Given the description of an element on the screen output the (x, y) to click on. 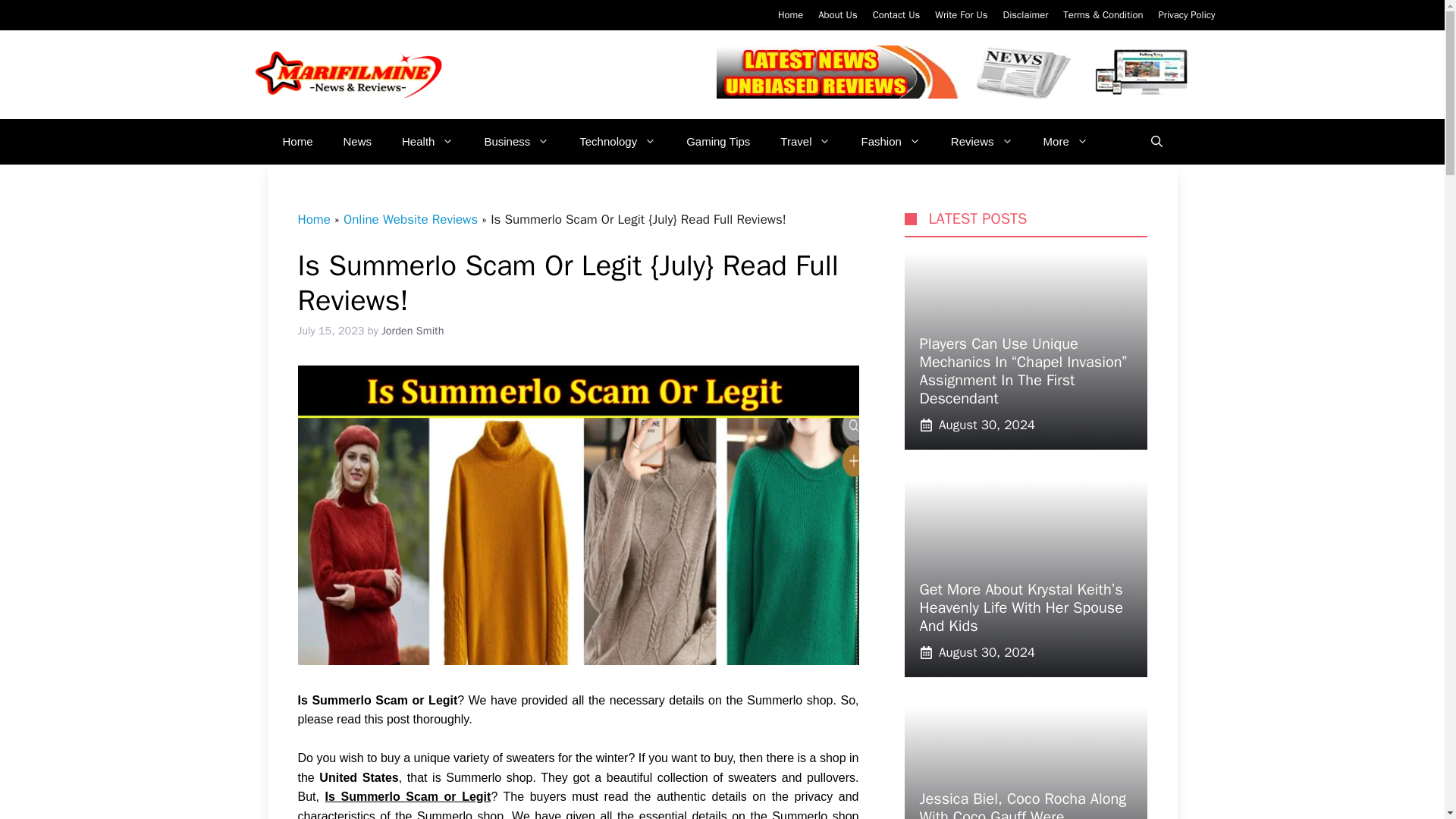
About Us (837, 14)
News (358, 141)
Reviews (981, 141)
Business (516, 141)
Home (790, 14)
Privacy Policy (1185, 14)
Health (427, 141)
Gaming Tips (718, 141)
Home (296, 141)
Travel (805, 141)
